Given the description of an element on the screen output the (x, y) to click on. 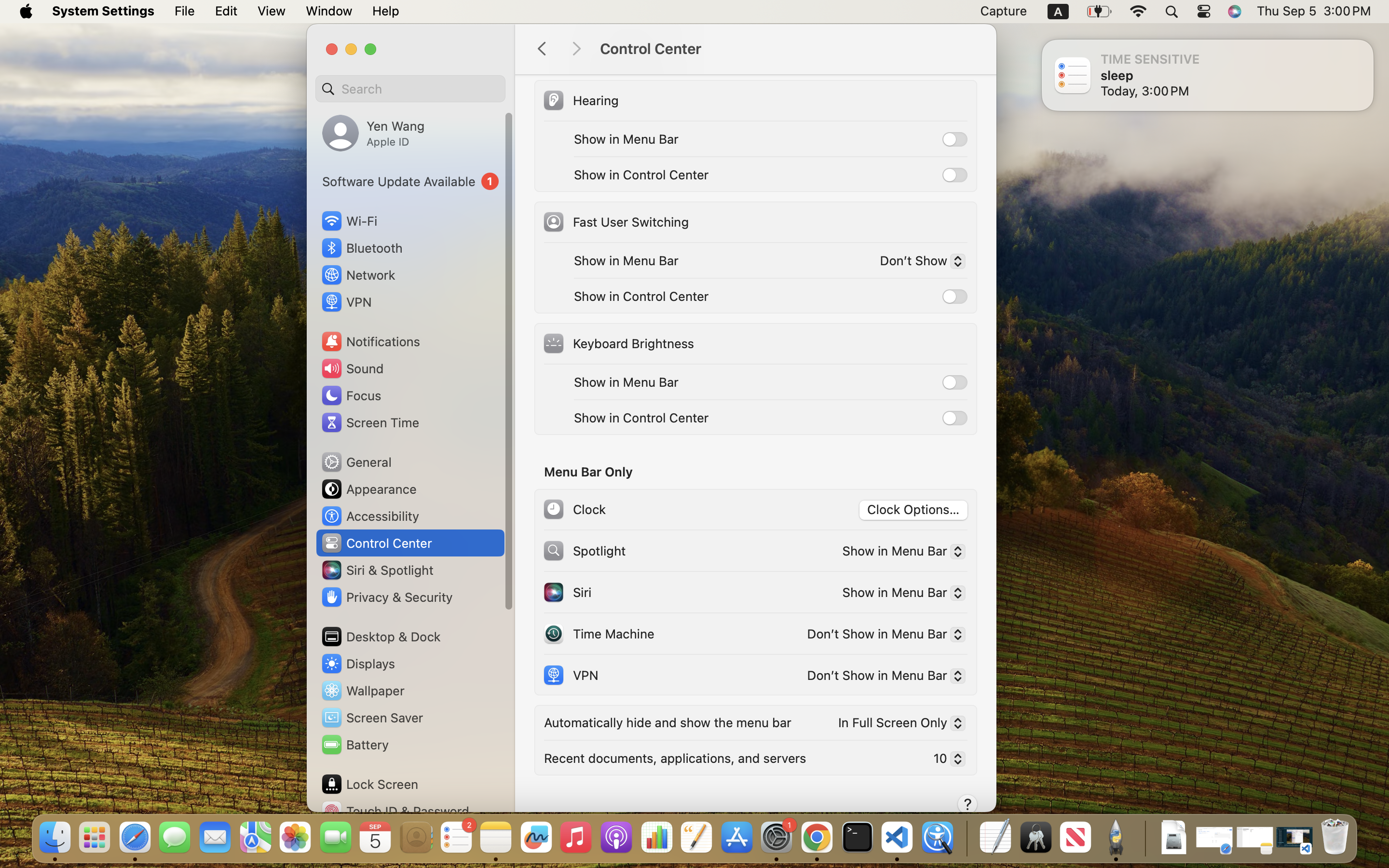
Don’t Show in Menu Bar Element type: AXPopUpButton (881, 635)
Touch ID & Password Element type: AXStaticText (394, 810)
Fast User Switching Element type: AXStaticText (615, 221)
Show in Control Center Element type: AXStaticText (640, 417)
Siri & Spotlight Element type: AXStaticText (376, 569)
